Given the description of an element on the screen output the (x, y) to click on. 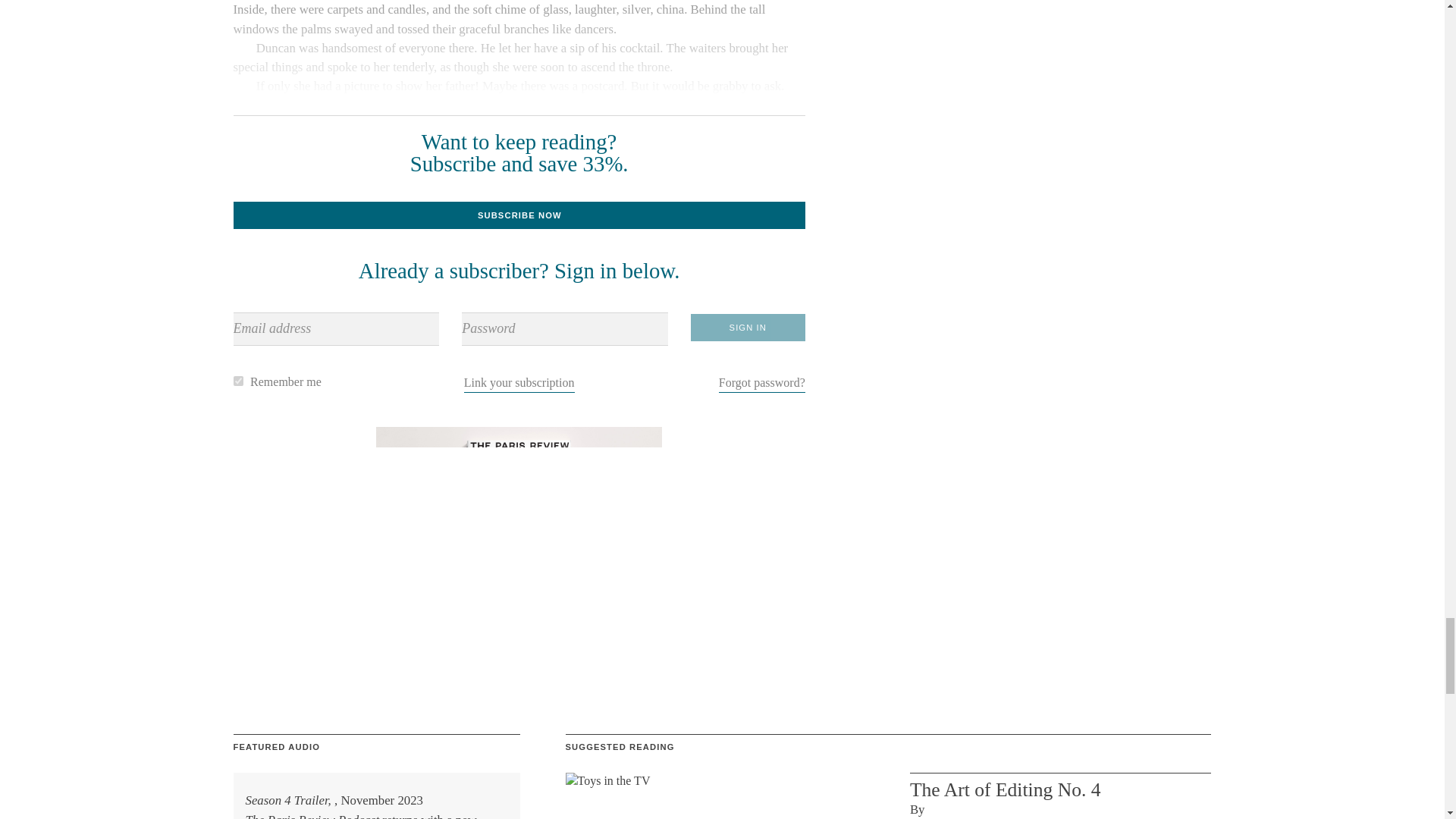
remember (237, 380)
Sign In (747, 327)
